Given the description of an element on the screen output the (x, y) to click on. 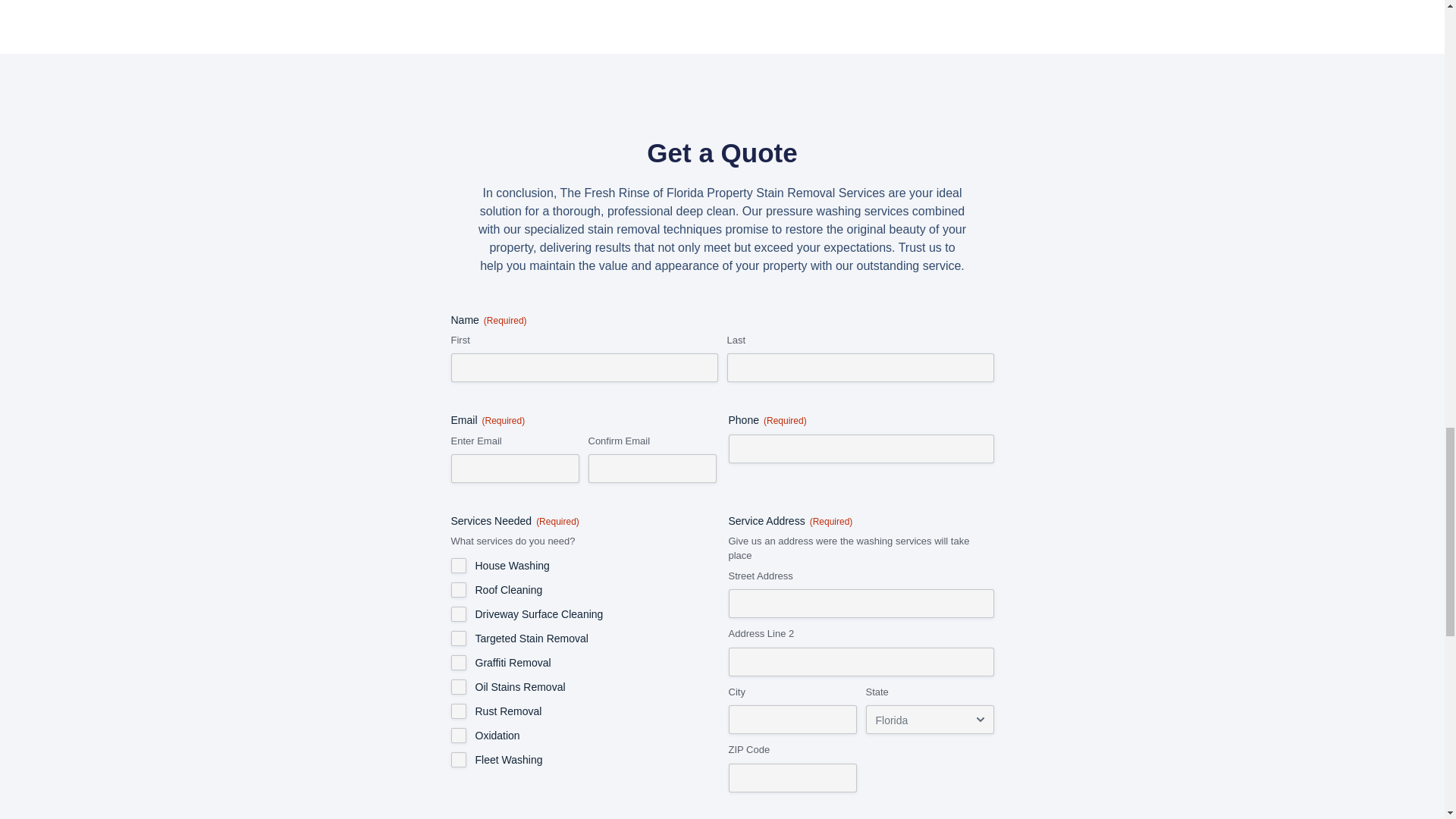
Roof Cleaning (457, 589)
Rust Removal (457, 711)
Driveway Surface Cleaning (457, 613)
Oxidation (457, 735)
Oil Stains Removal (457, 686)
House Washing (457, 565)
Targeted Stain Removal (457, 638)
Graffiti Removal (457, 662)
Fleet Washing (457, 759)
